Given the description of an element on the screen output the (x, y) to click on. 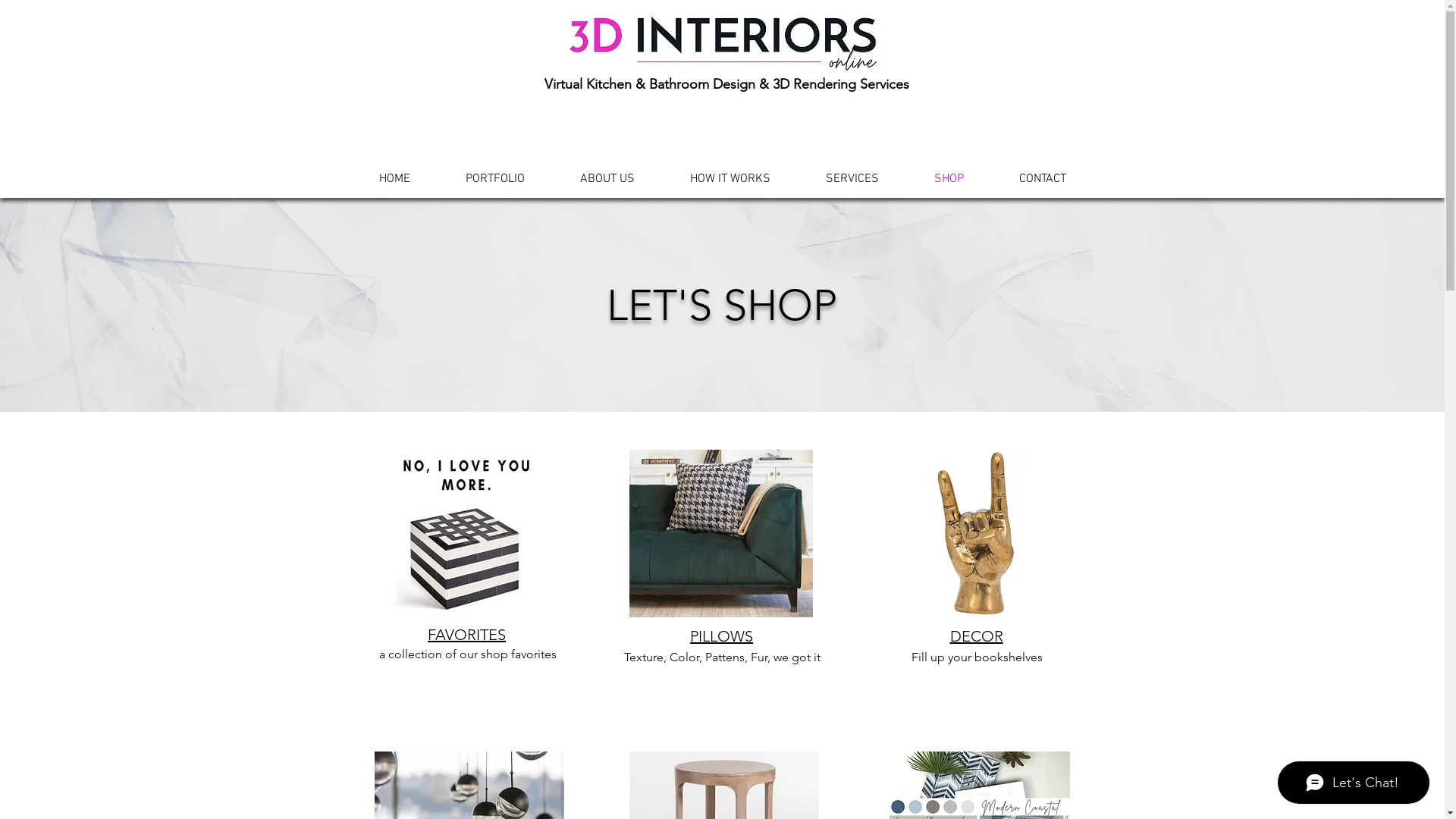
FAVORITES Element type: text (466, 634)
SERVICES Element type: text (851, 178)
DECOR Element type: text (975, 636)
ABOUT US Element type: text (607, 178)
PORTFOLIO Element type: text (495, 178)
CONTACT Element type: text (1042, 178)
SHOP Element type: text (948, 178)
HOME Element type: text (393, 178)
HOW IT WORKS Element type: text (730, 178)
PILLOWS Element type: text (721, 636)
